Given the description of an element on the screen output the (x, y) to click on. 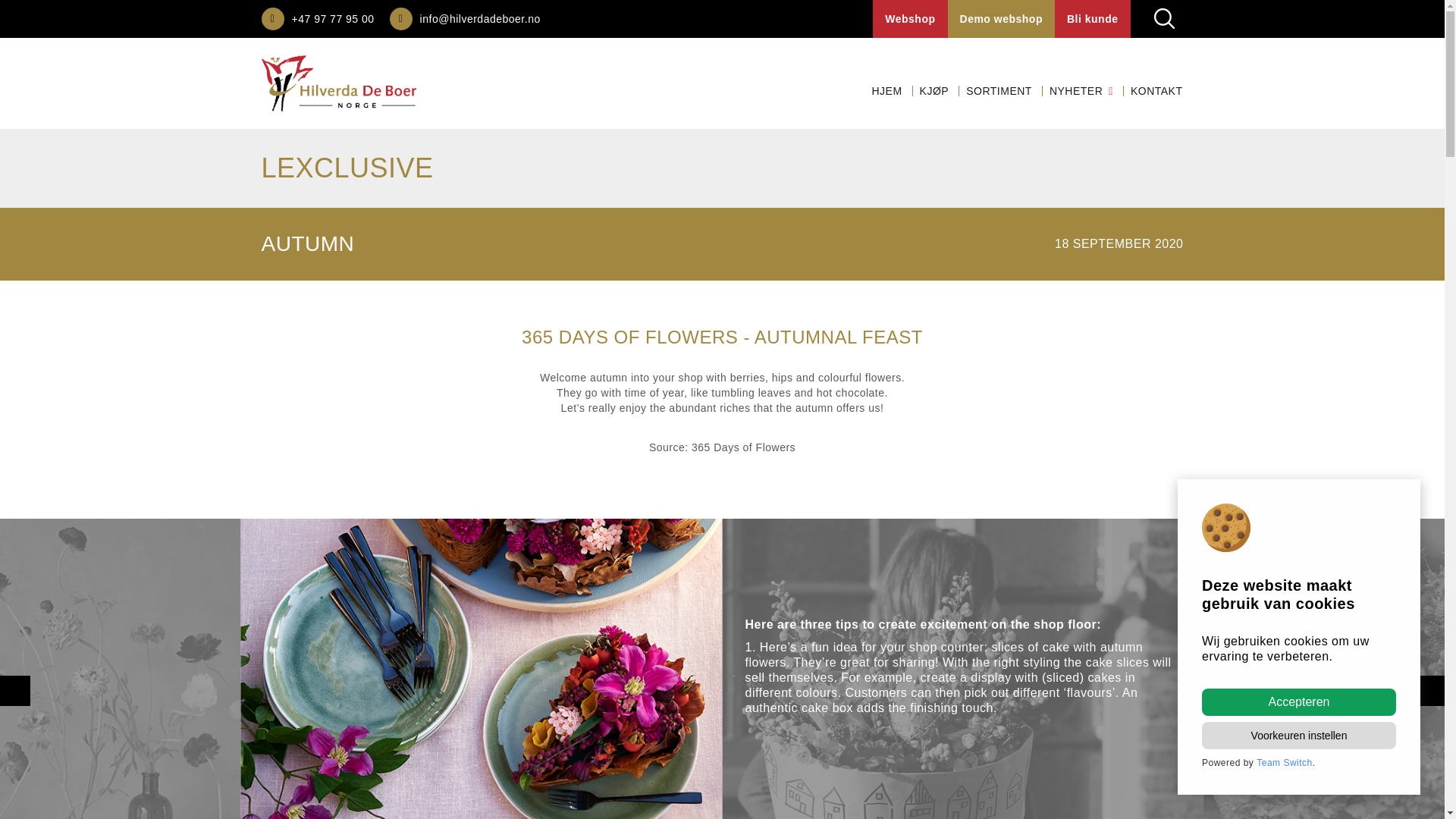
NYHETER (1080, 90)
Webshop (909, 18)
KONTAKT (1156, 90)
Bli kunde (1092, 18)
SORTIMENT (998, 90)
Demo webshop (1000, 18)
HJEM (886, 90)
